Given the description of an element on the screen output the (x, y) to click on. 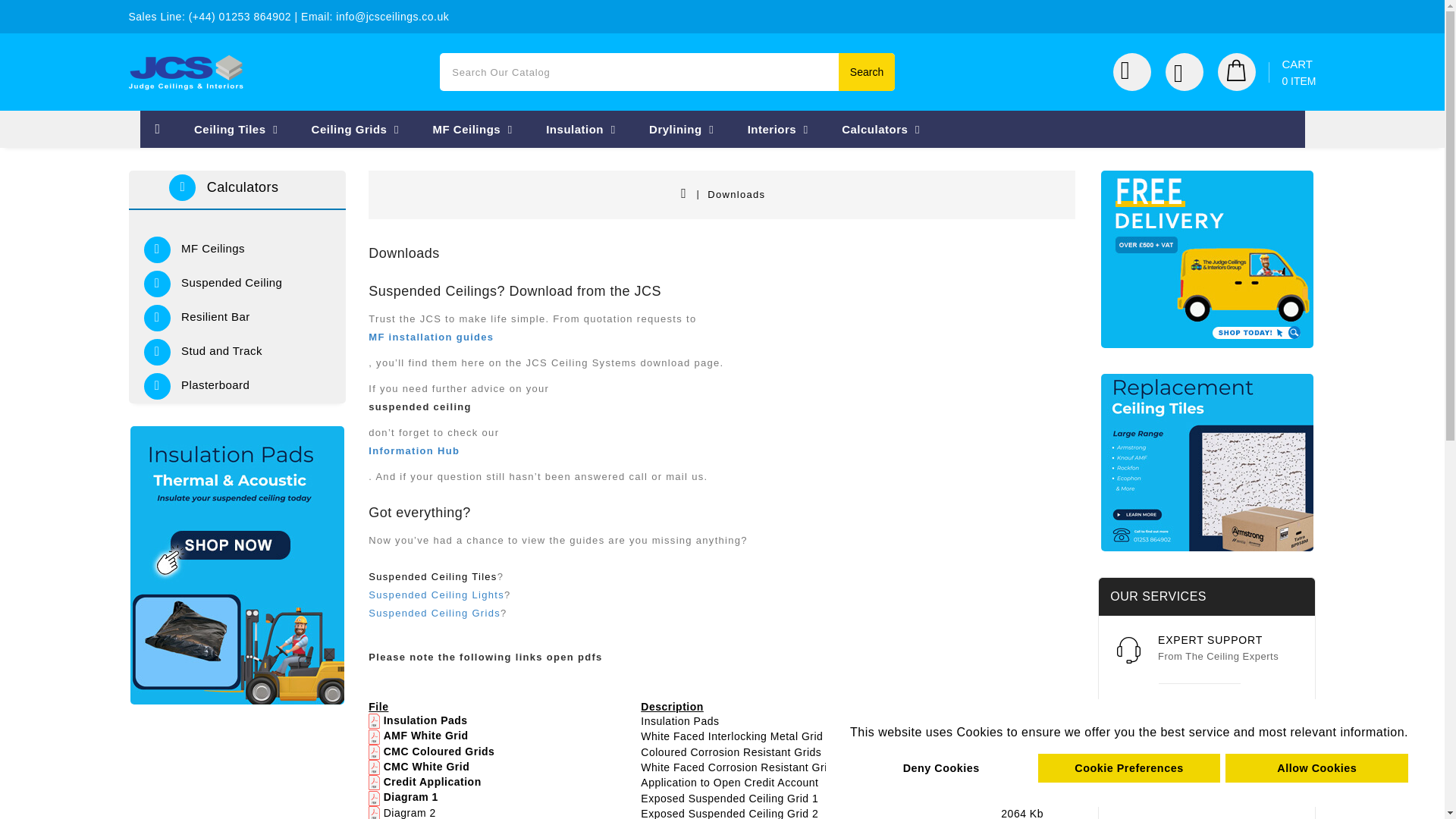
Contact (1190, 71)
Search (866, 71)
Cookie Preferences (1266, 71)
Ceiling Grids (1129, 767)
Deny Cookies (355, 129)
MF Ceilings (941, 767)
Suspended Ceiling Installation (471, 129)
Insulation (721, 356)
Ceiling Tiles (580, 129)
Judge Ceiling Systems (235, 129)
Account (186, 72)
Allow Cookies (1137, 71)
